Given the description of an element on the screen output the (x, y) to click on. 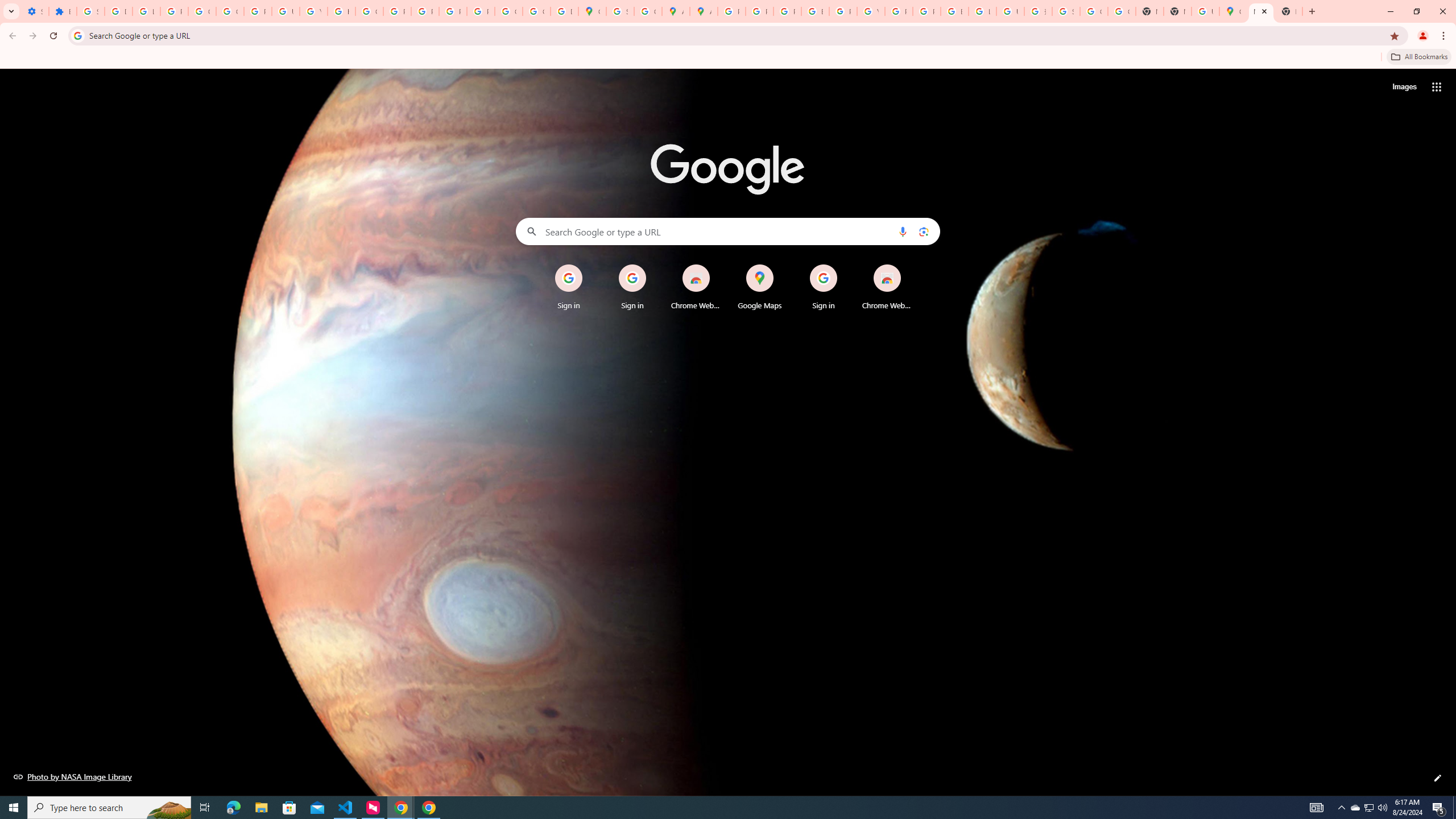
Remove (909, 265)
Search Google or type a URL (727, 230)
Delete photos & videos - Computer - Google Photos Help (118, 11)
New Tab (1288, 11)
